Given the description of an element on the screen output the (x, y) to click on. 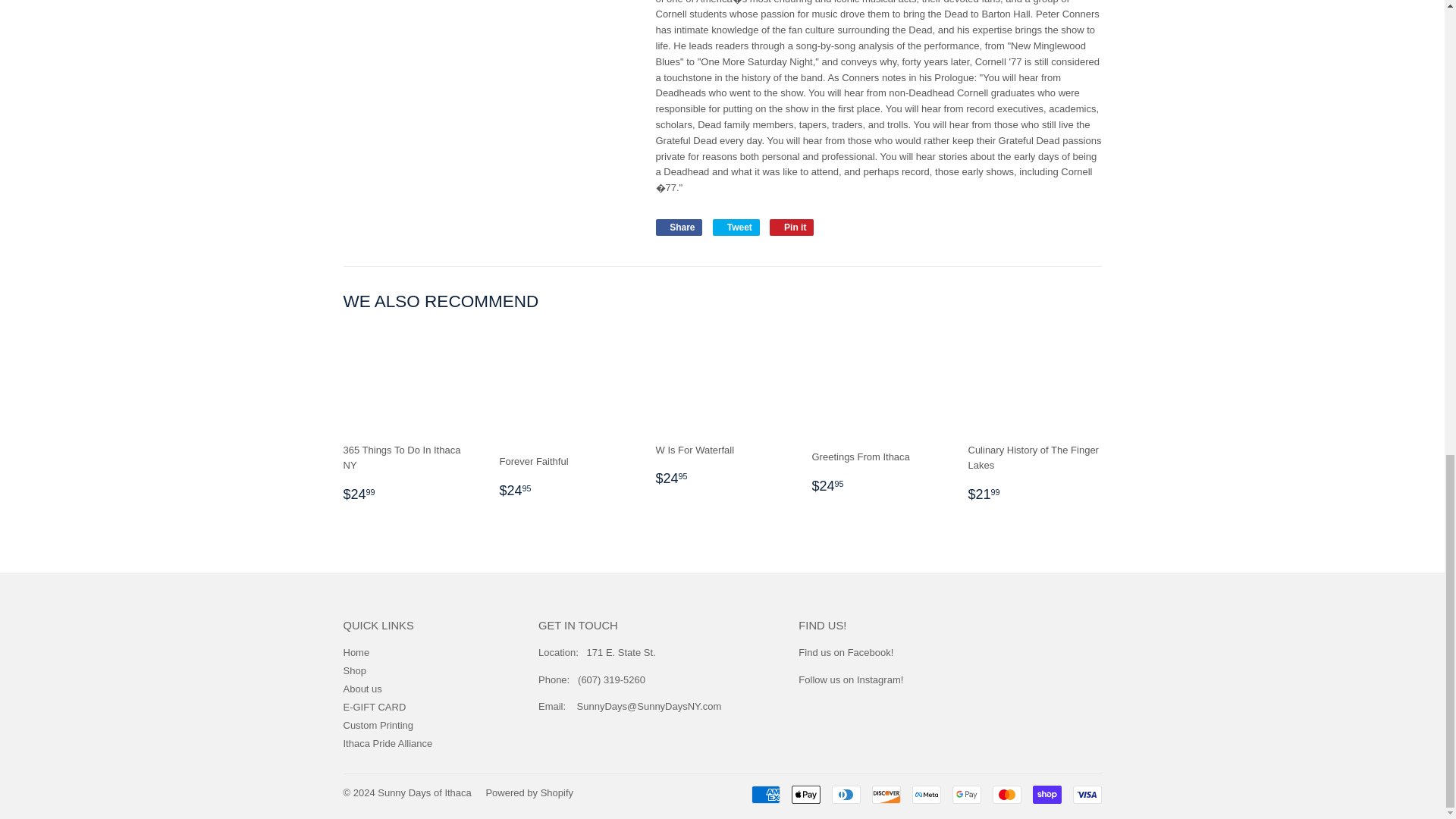
Diners Club (845, 794)
Mastercard (1005, 794)
Pin on Pinterest (791, 227)
Tweet on Twitter (736, 227)
American Express (764, 794)
Google Pay (966, 794)
Meta Pay (925, 794)
Discover (886, 794)
Apple Pay (806, 794)
Share on Facebook (678, 227)
